Given the description of an element on the screen output the (x, y) to click on. 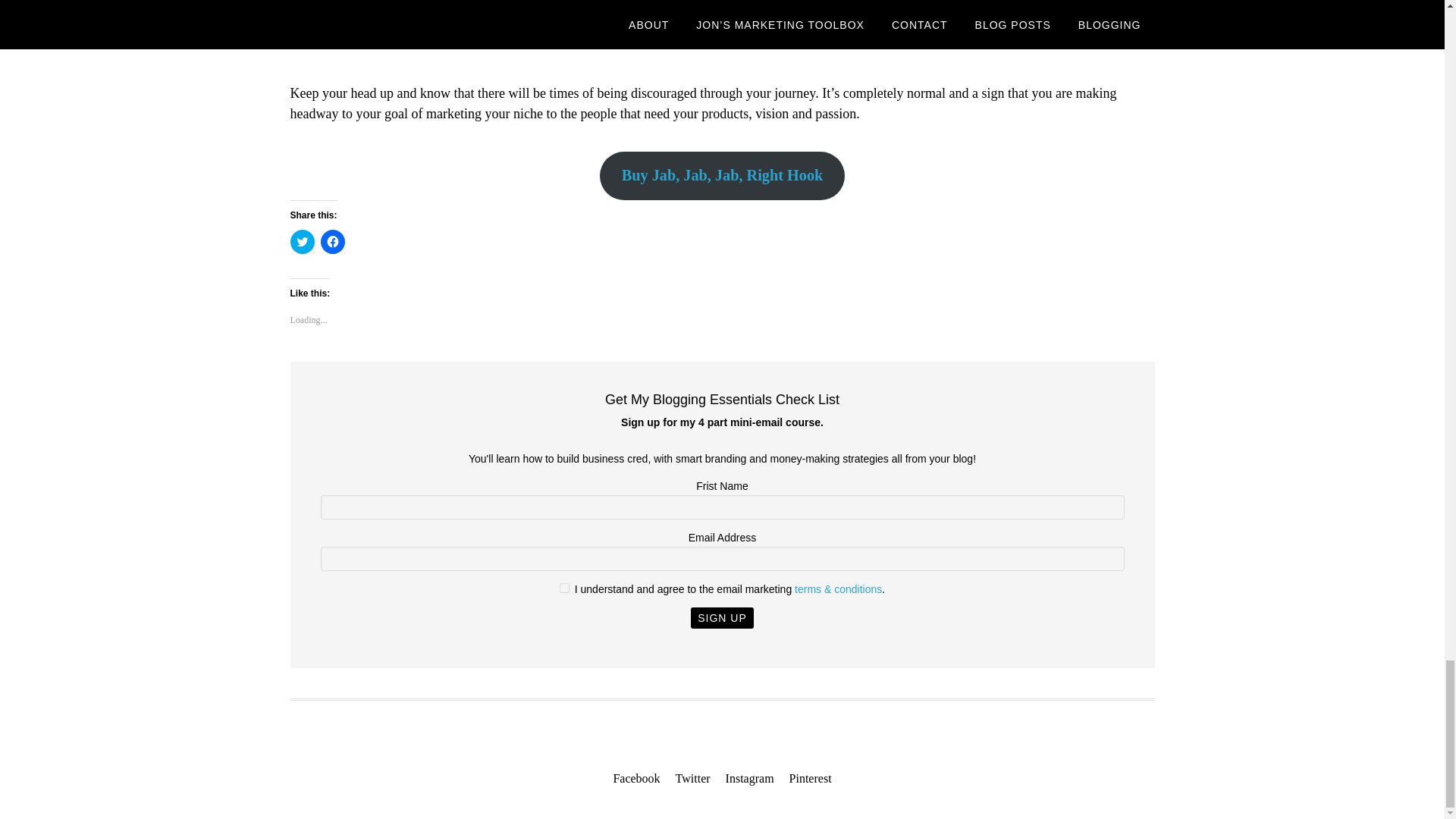
granted (564, 587)
Click to share on Twitter (301, 241)
Twitter (692, 778)
Click to share on Facebook (331, 241)
Facebook (635, 778)
Sign Up (722, 617)
Sign Up (722, 617)
Pinterest (810, 778)
Buy Jab, Jab, Jab, Right Hook (722, 175)
Instagram (749, 778)
